Given the description of an element on the screen output the (x, y) to click on. 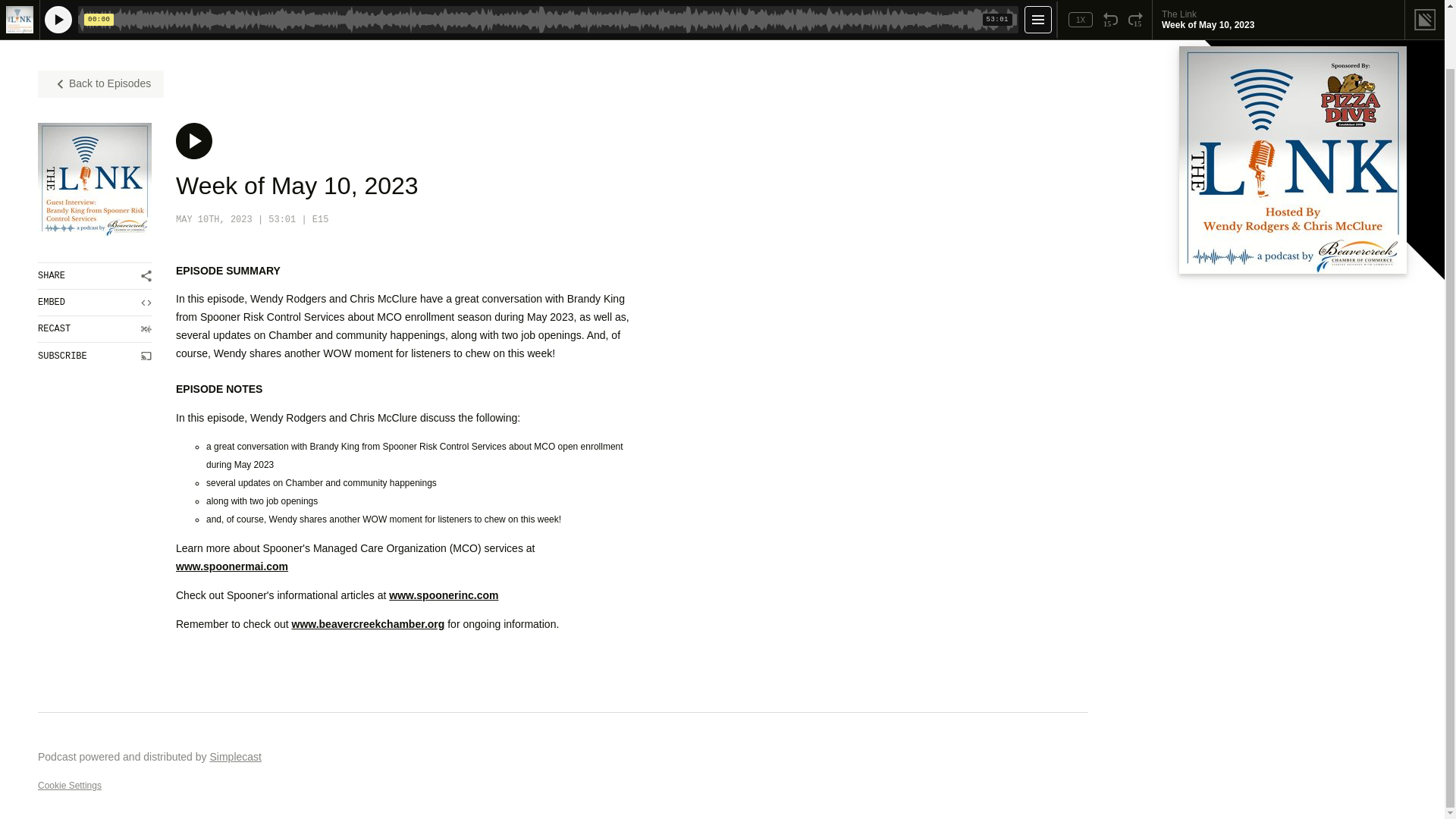
Simplecast (234, 756)
www.spoonermai.com (232, 566)
www.spoonerinc.com (442, 594)
www.beavercreekchamber.org (368, 623)
RECAST (94, 329)
SUBSCRIBE (94, 356)
Back to Episodes (100, 83)
Episodes (115, 9)
EMBED (94, 302)
Cookie Settings (69, 785)
